Given the description of an element on the screen output the (x, y) to click on. 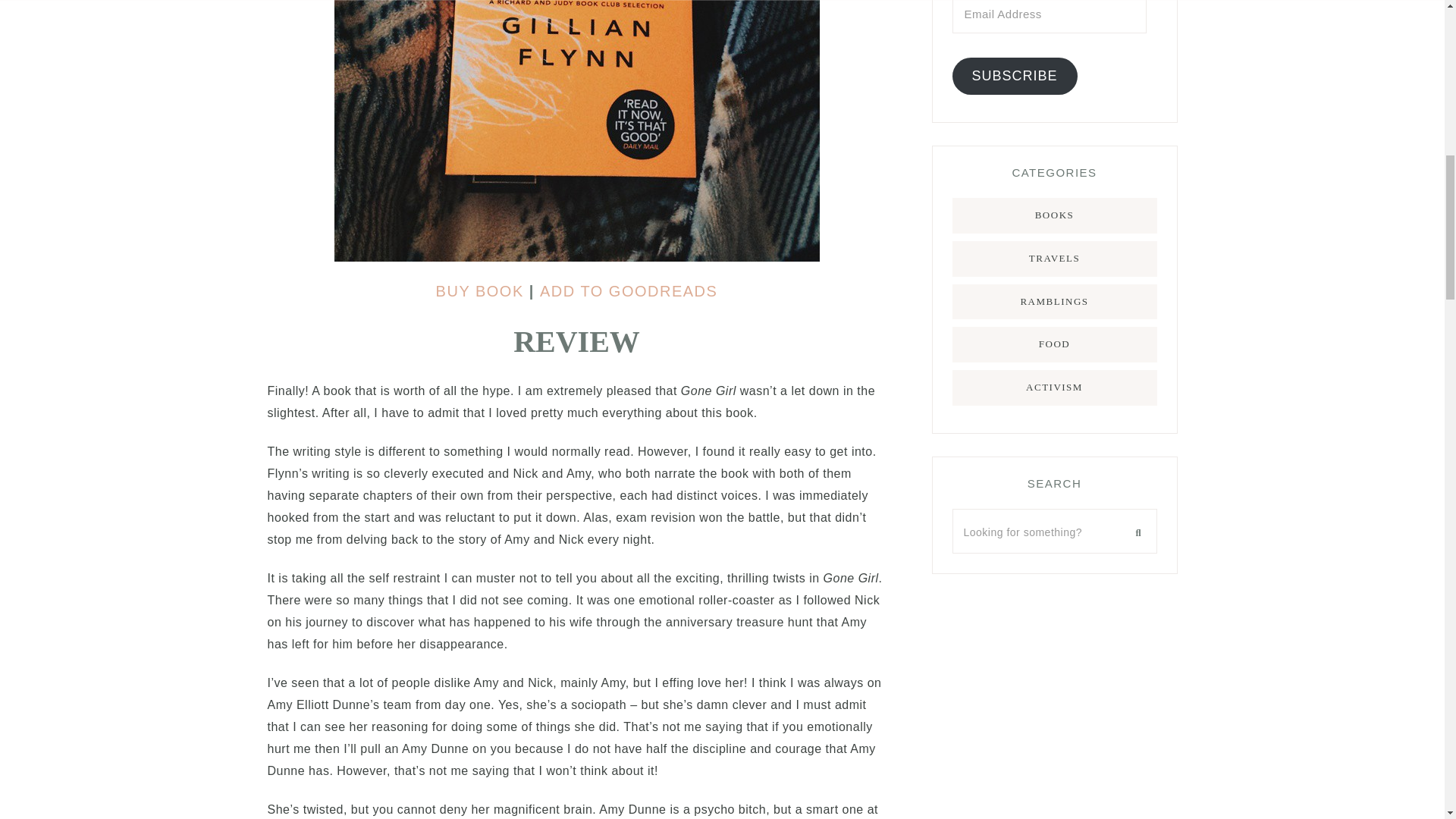
BUY BOOK (479, 290)
ADD TO GOODREADS (628, 290)
